Given the description of an element on the screen output the (x, y) to click on. 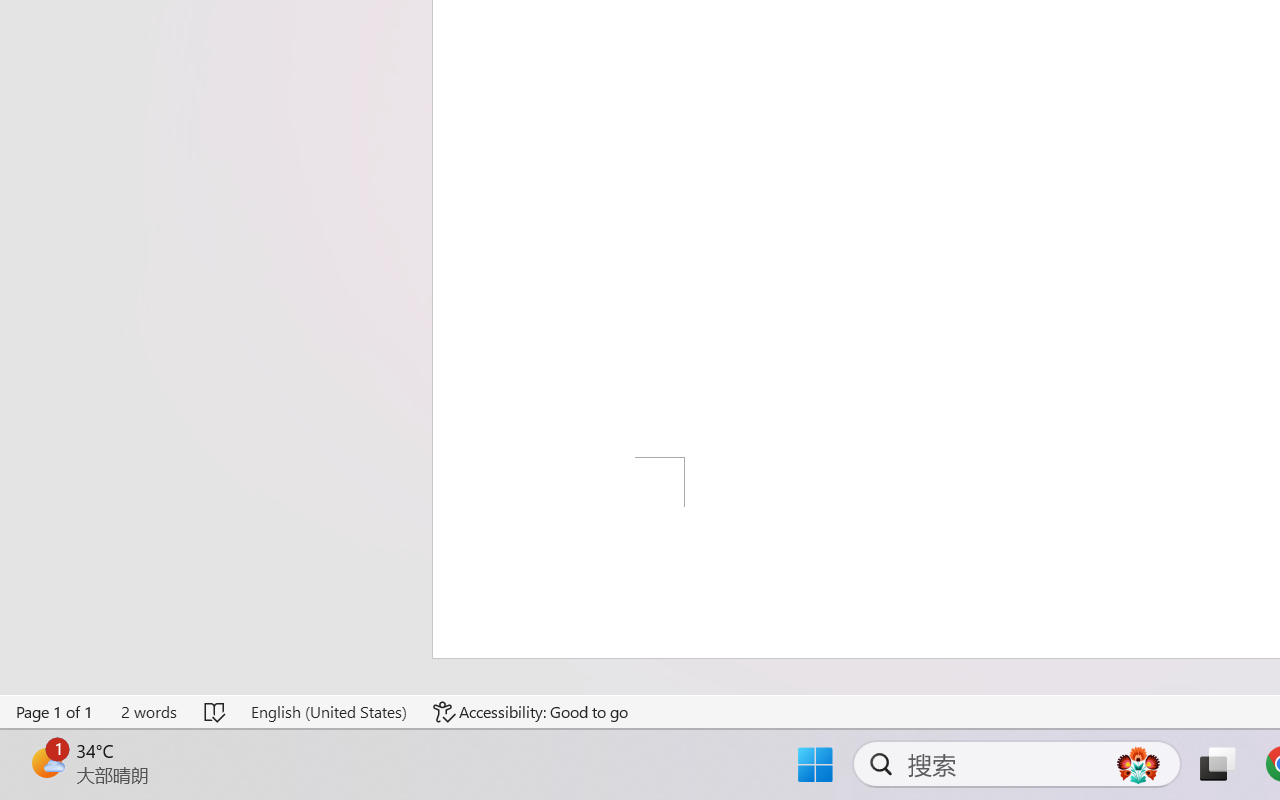
Page Number Page 1 of 1 (55, 712)
AutomationID: DynamicSearchBoxGleamImage (1138, 764)
Accessibility Checker Accessibility: Good to go (531, 712)
AutomationID: BadgeAnchorLargeTicker (46, 762)
Language English (United States) (328, 712)
Spelling and Grammar Check No Errors (216, 712)
